Given the description of an element on the screen output the (x, y) to click on. 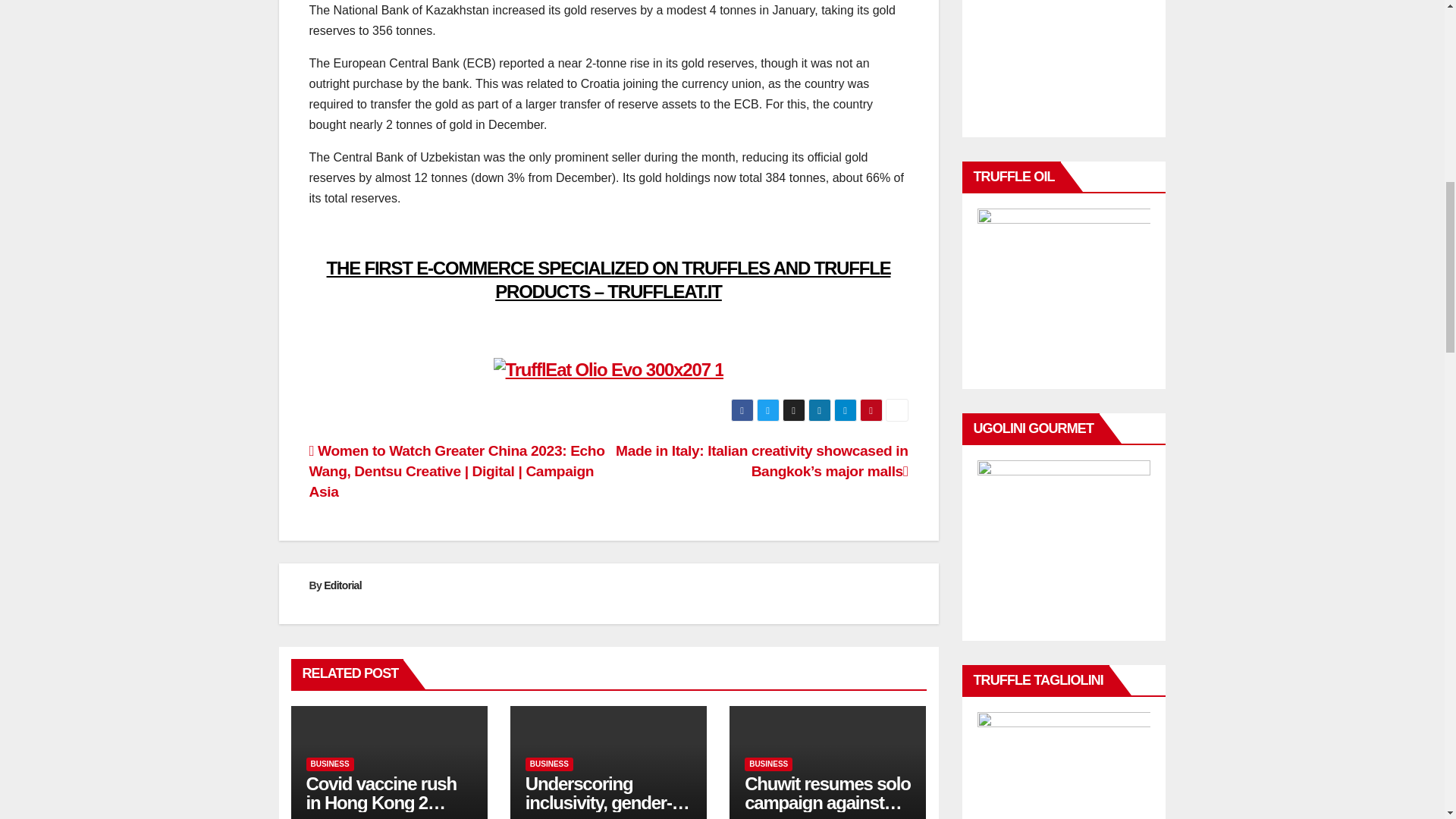
BUSINESS (329, 764)
Editorial (342, 585)
BUSINESS (768, 764)
BUSINESS (549, 764)
